Given the description of an element on the screen output the (x, y) to click on. 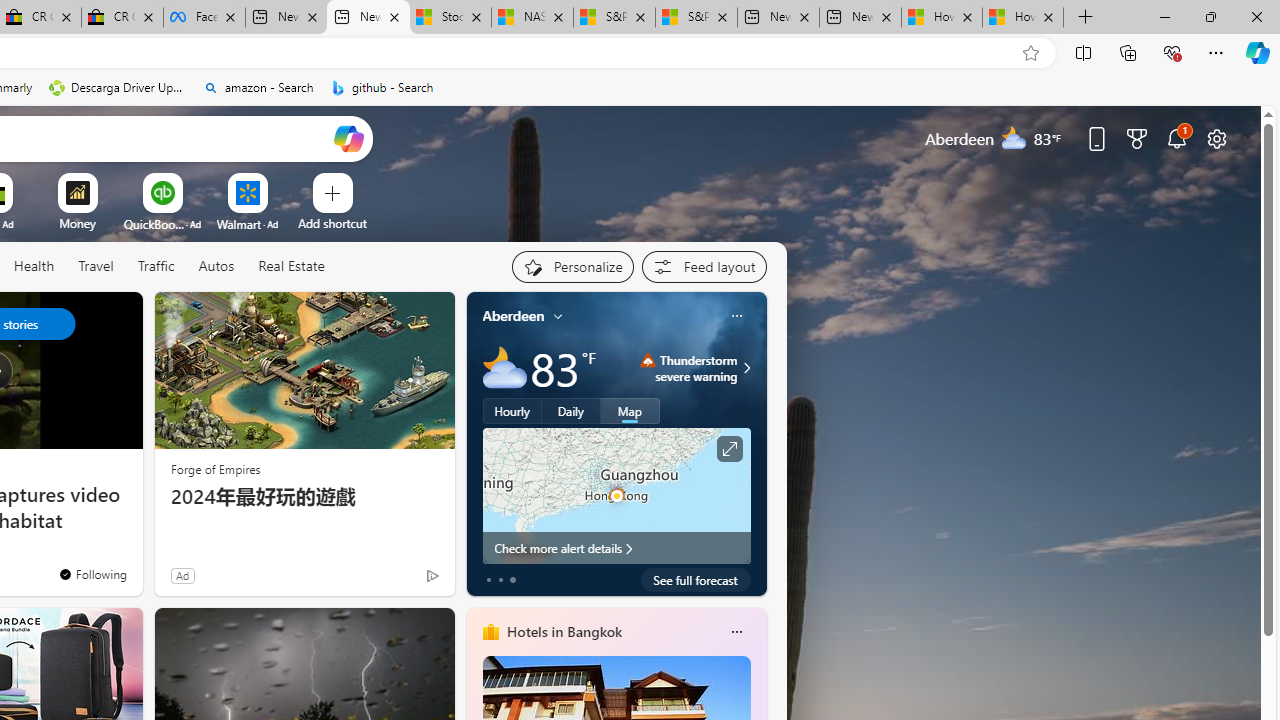
Map (630, 411)
Microsoft rewards (1137, 138)
tab-2 (511, 579)
Mostly cloudy (504, 368)
Travel (95, 265)
Travel (95, 267)
Health (34, 265)
github - Search (381, 88)
Thunderstorm - Severe (648, 359)
